Given the description of an element on the screen output the (x, y) to click on. 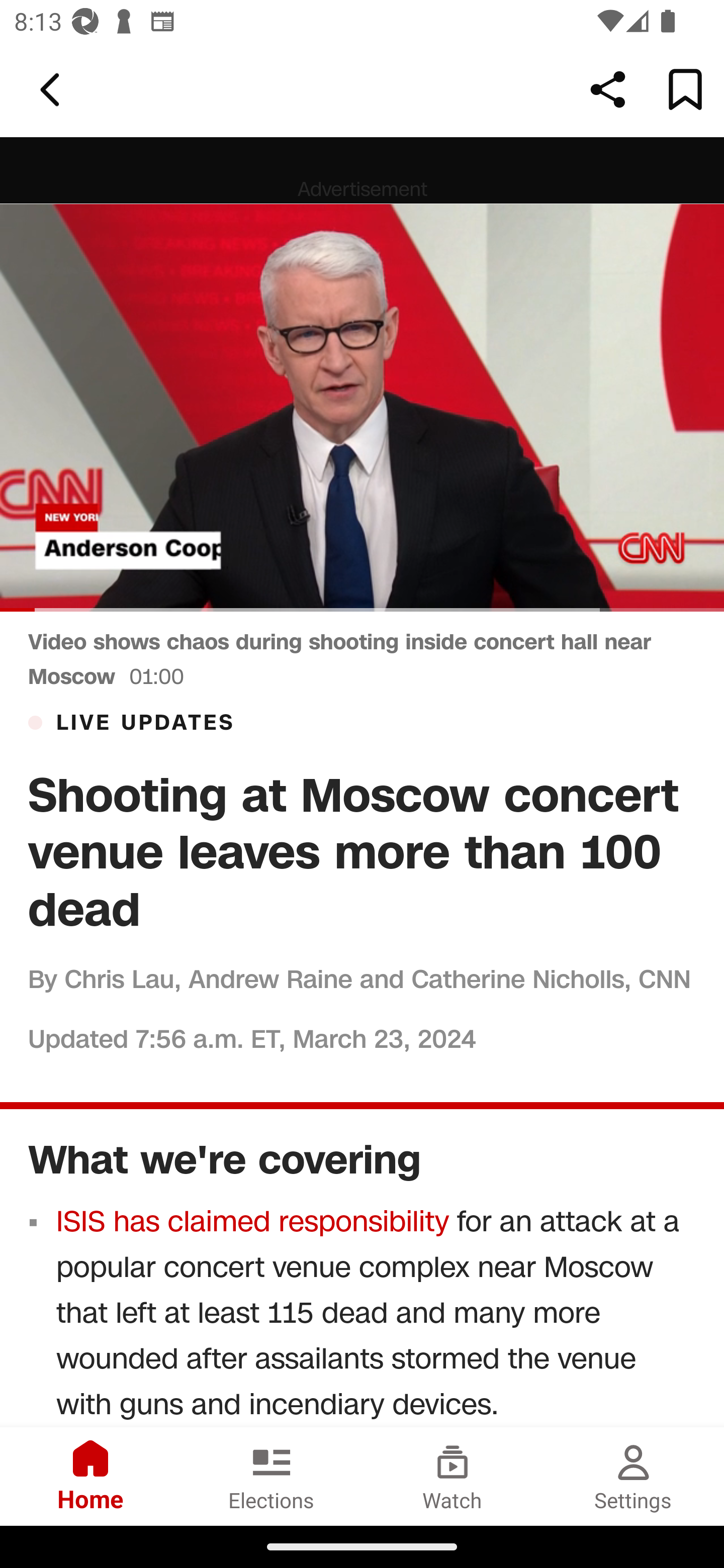
Back Button (52, 89)
Share (607, 89)
Bookmark (685, 89)
Andrew Raine (269, 978)
ISIS has claimed responsibility (253, 1221)
Elections (271, 1475)
Watch (452, 1475)
Settings (633, 1475)
